Given the description of an element on the screen output the (x, y) to click on. 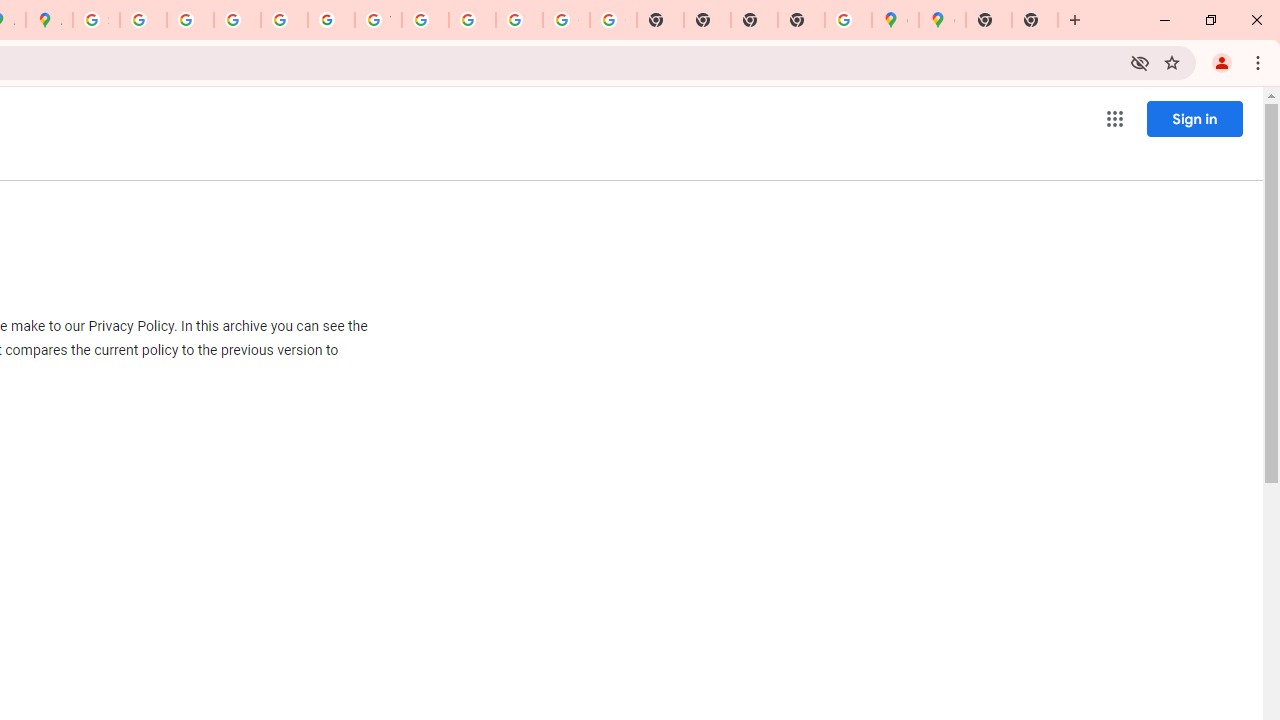
YouTube (377, 20)
Privacy Help Center - Policies Help (189, 20)
New Tab (801, 20)
